Given the description of an element on the screen output the (x, y) to click on. 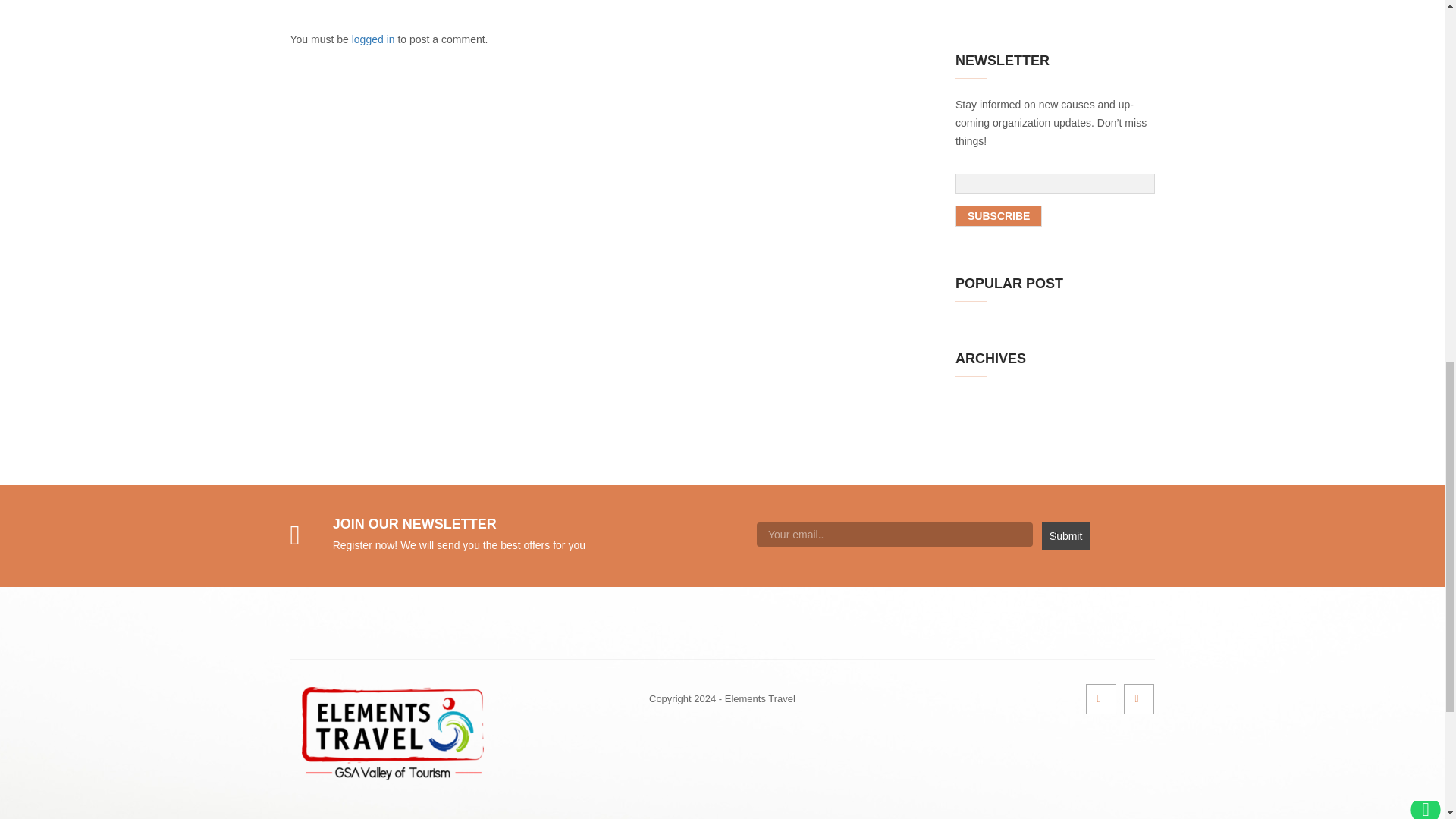
Subscribe (998, 215)
Submit (1065, 535)
Subscribe (998, 215)
logged in (373, 39)
Submit (1065, 535)
